Given the description of an element on the screen output the (x, y) to click on. 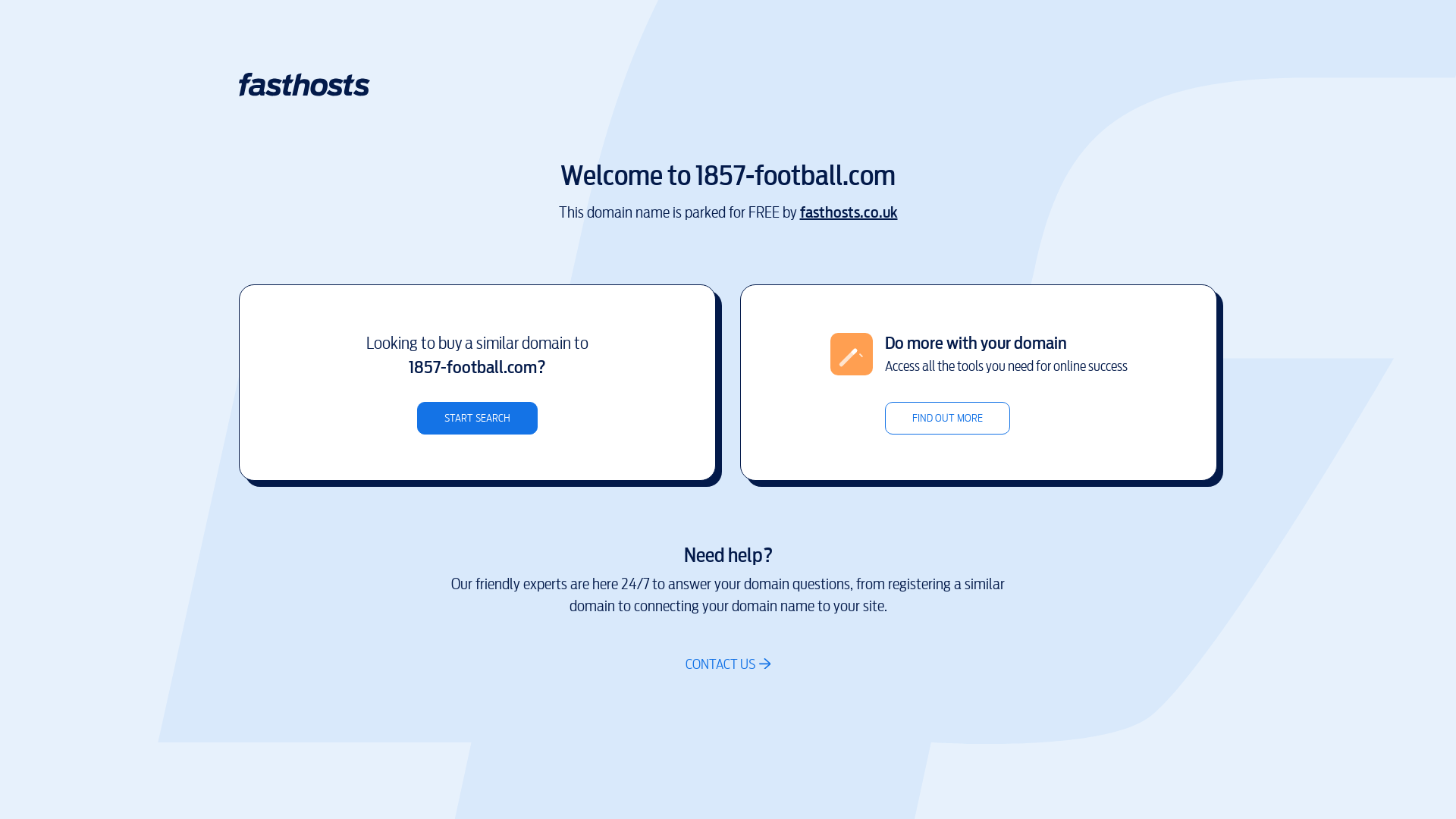
START SEARCH Element type: text (477, 417)
fasthosts.co.uk Element type: text (848, 212)
FIND OUT MORE Element type: text (946, 417)
CONTACT US Element type: text (727, 663)
